Given the description of an element on the screen output the (x, y) to click on. 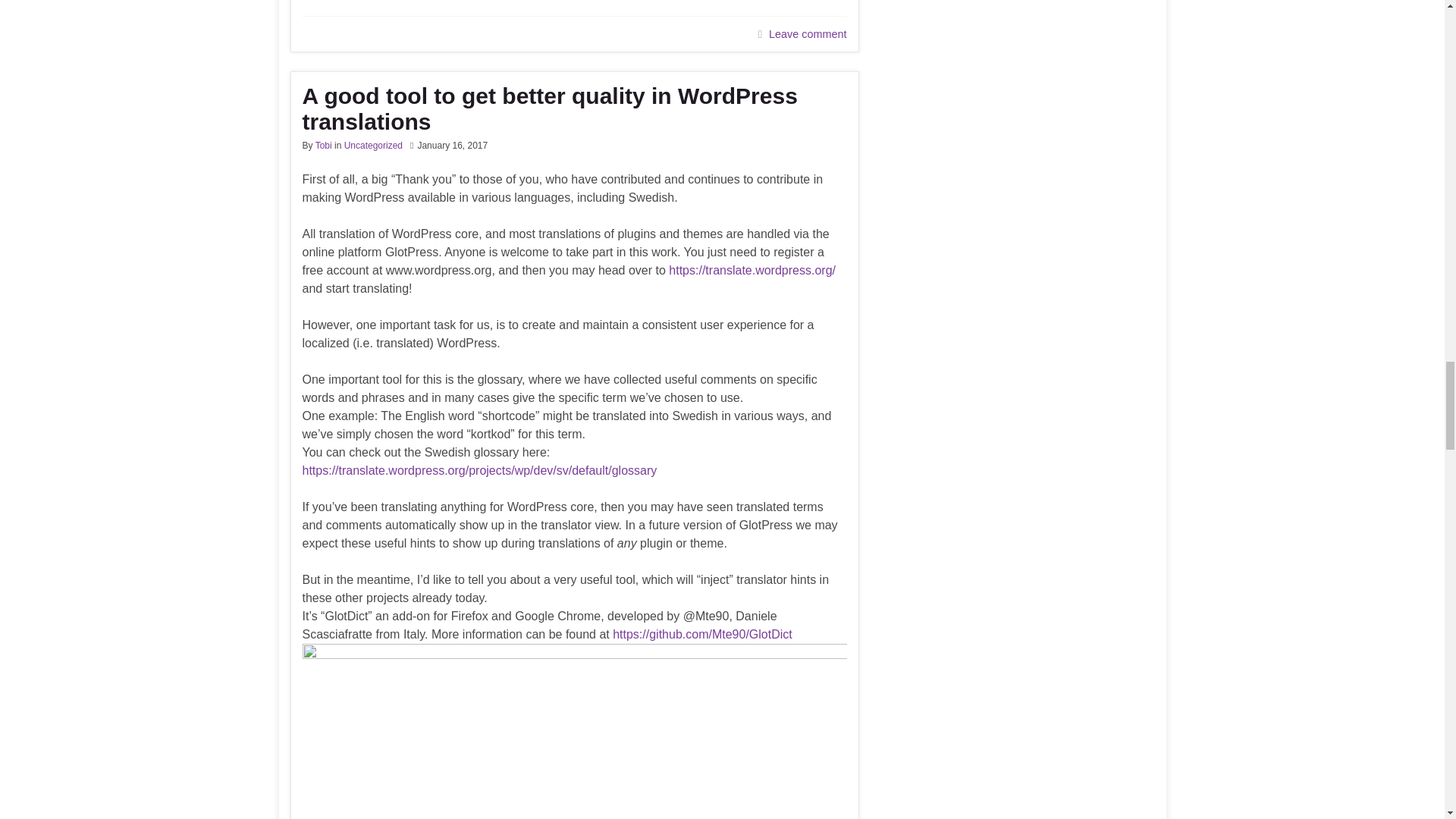
Leave comment (806, 33)
Tobi (323, 145)
A good tool to get better quality in WordPress translations (573, 109)
Uncategorized (373, 145)
